Given the description of an element on the screen output the (x, y) to click on. 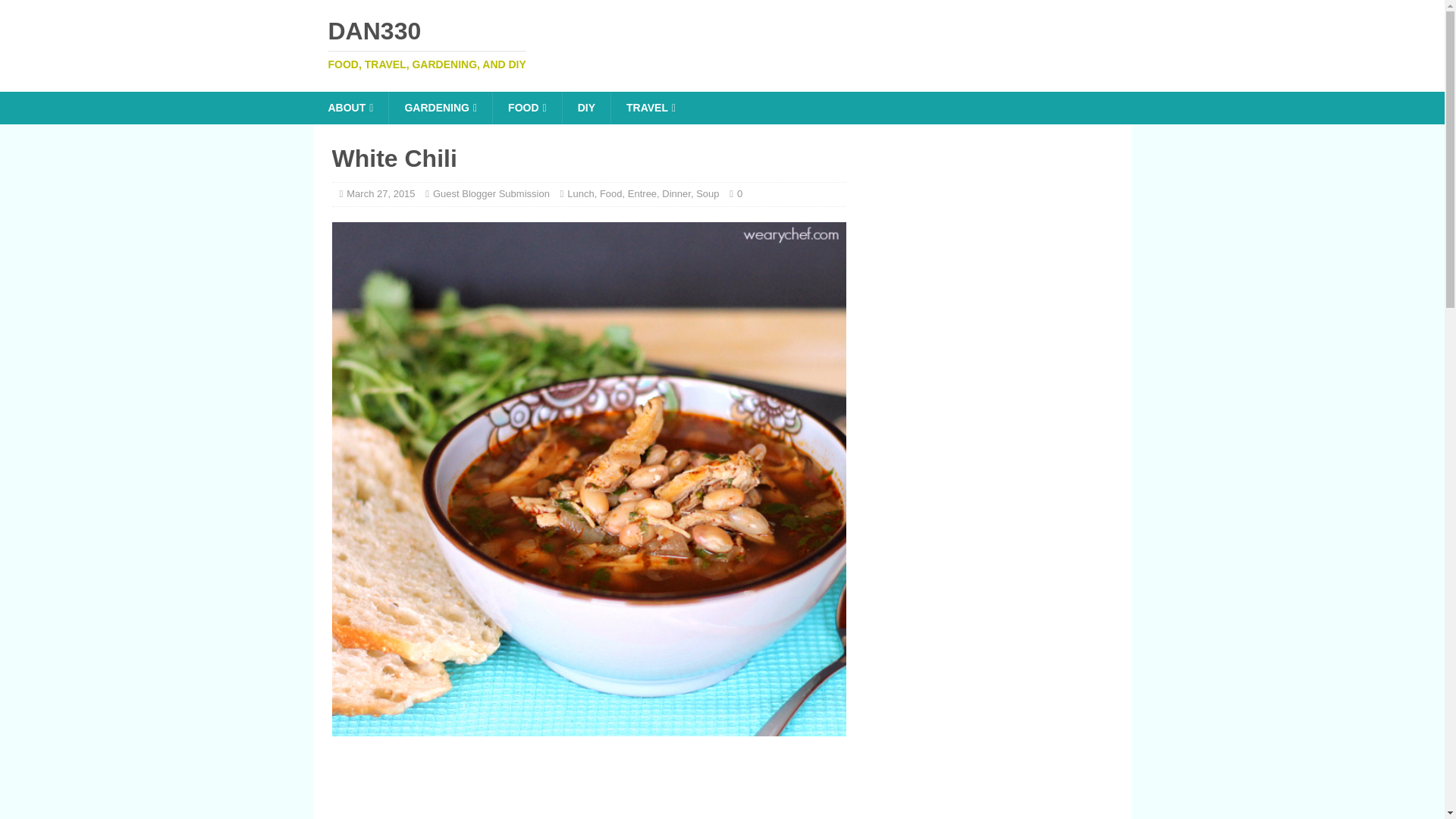
Lunch (580, 193)
Guest Blogger Submission (491, 193)
FOOD (527, 107)
Food (611, 193)
GARDENING (440, 107)
Dinner (676, 193)
Advertisement (699, 785)
ABOUT (350, 107)
Entree (641, 193)
March 27, 2015 (721, 44)
TRAVEL (380, 193)
Dan330 (650, 107)
Soup (721, 44)
DIY (707, 193)
